Given the description of an element on the screen output the (x, y) to click on. 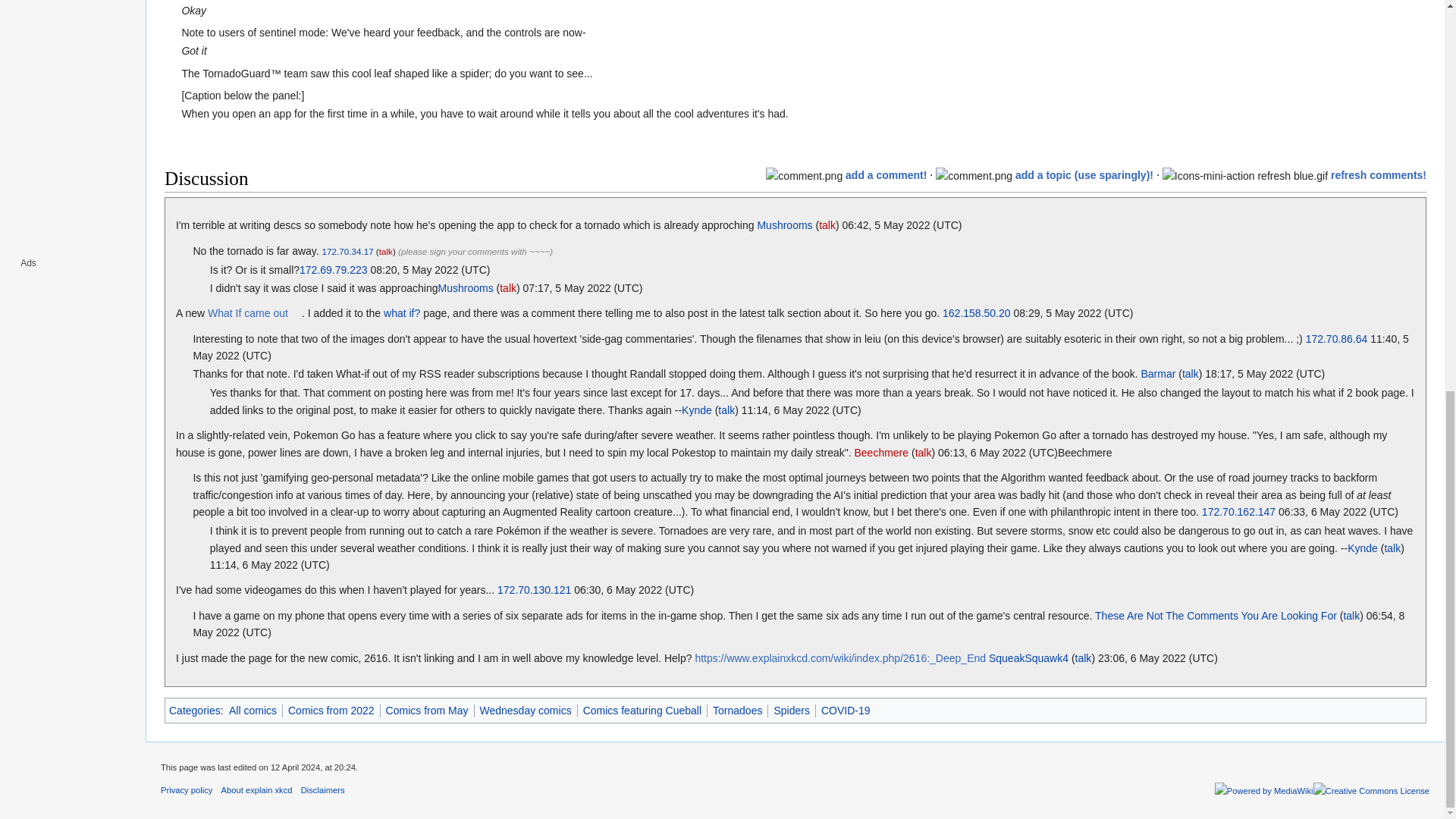
172.70.34.17 (347, 251)
talk (385, 251)
Mushrooms (784, 224)
talk (826, 224)
What If came out (254, 313)
what if? (402, 313)
Mushrooms (465, 287)
talk (507, 287)
add a comment! (885, 174)
172.69.79.223 (333, 269)
162.158.50.20 (976, 313)
refresh comments! (1378, 174)
